Given the description of an element on the screen output the (x, y) to click on. 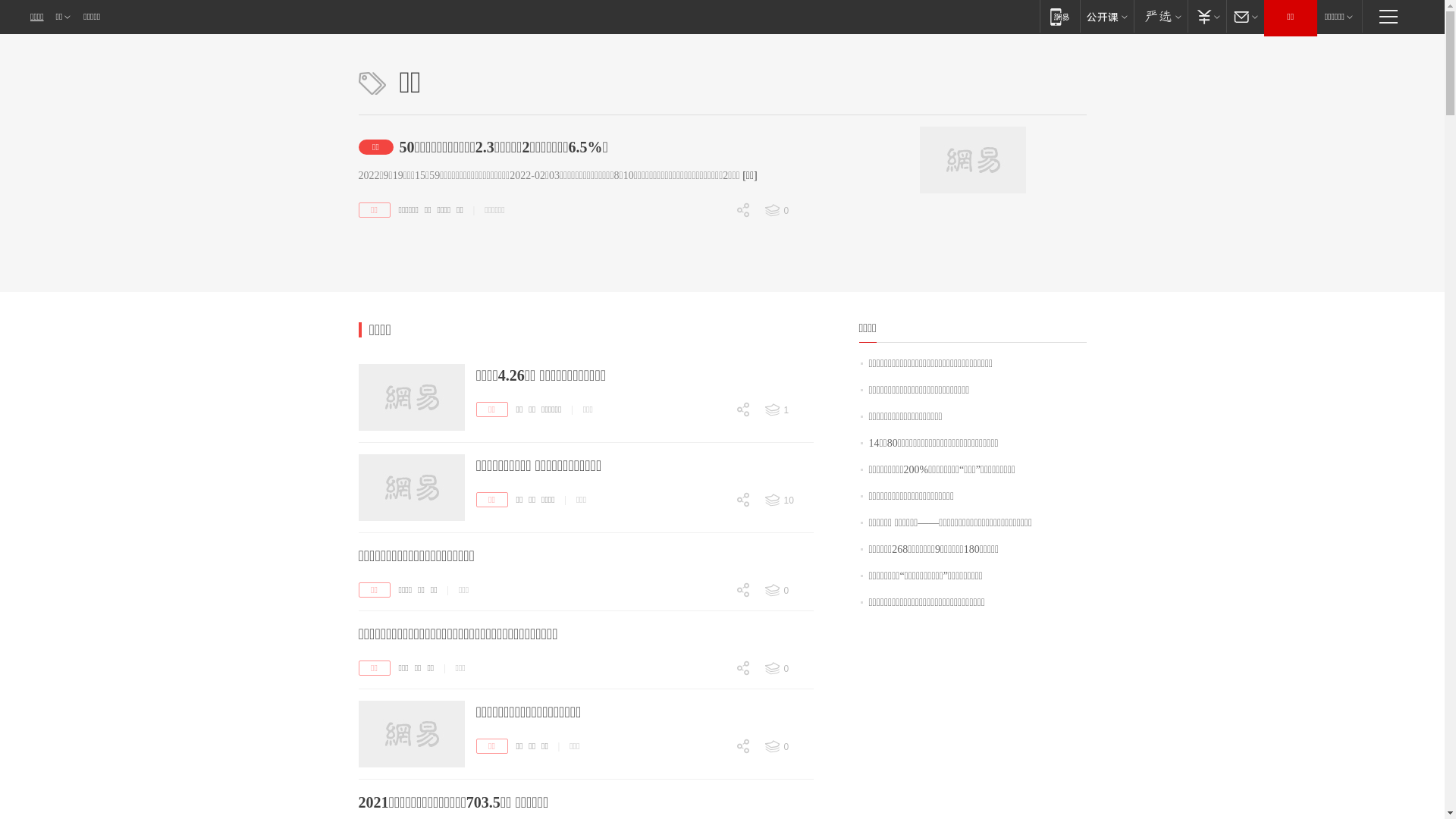
0 Element type: text (712, 696)
0 Element type: text (712, 616)
0 Element type: text (712, 289)
0 Element type: text (712, 316)
0 Element type: text (712, 774)
0 Element type: text (712, 489)
0 Element type: text (712, 605)
0 Element type: text (712, 515)
0 Element type: text (787, 210)
0 Element type: text (712, 236)
10 Element type: text (787, 500)
0 Element type: text (787, 746)
0 Element type: text (712, 694)
0 Element type: text (787, 590)
1 Element type: text (787, 409)
0 Element type: text (712, 669)
0 Element type: text (712, 526)
0 Element type: text (712, 772)
0 Element type: text (787, 668)
0 Element type: text (712, 579)
0 Element type: text (712, 747)
0 Element type: text (712, 436)
